Given the description of an element on the screen output the (x, y) to click on. 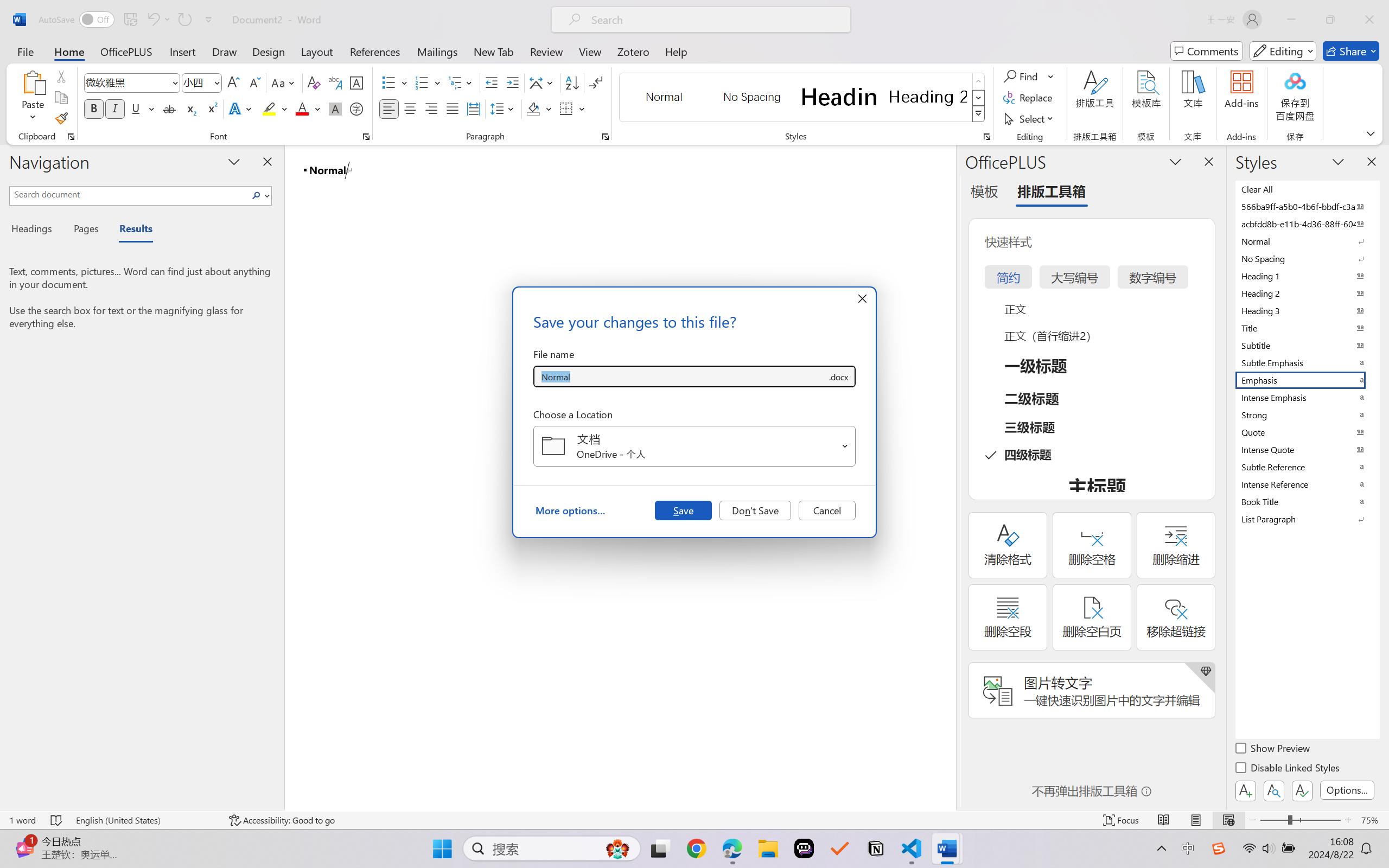
Options... (1346, 789)
Title (1306, 327)
Paste (33, 81)
Distributed (473, 108)
Show/Hide Editing Marks (595, 82)
Mailings (437, 51)
Undo Style (158, 19)
Change Case (284, 82)
Language English (United States) (144, 819)
Search document (128, 193)
Underline (135, 108)
Read Mode (1163, 819)
Save (682, 509)
Zoom (1300, 819)
Web Layout (1228, 819)
